Given the description of an element on the screen output the (x, y) to click on. 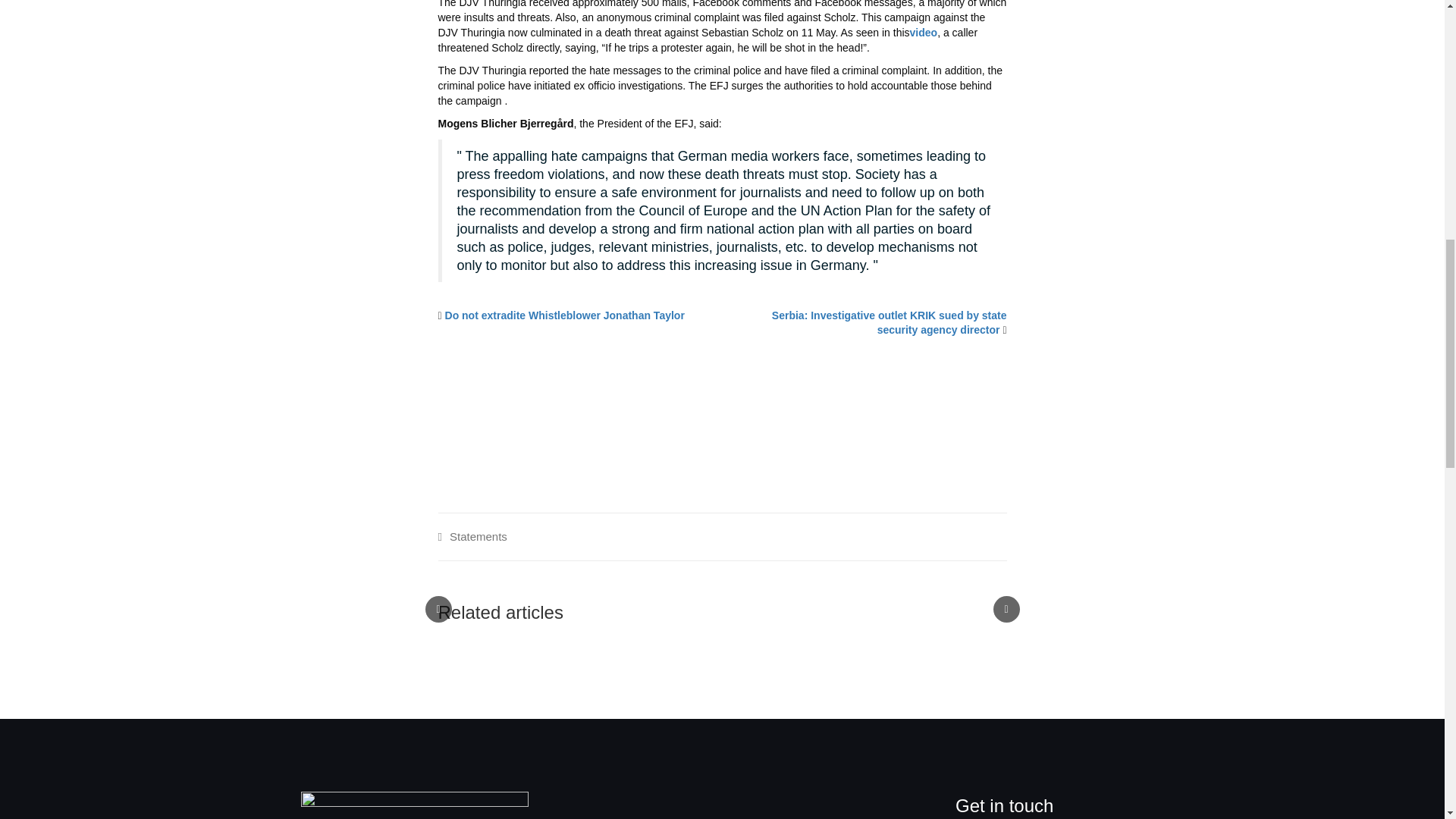
Do not extradite Whistleblower Jonathan Taylor (564, 315)
video (923, 32)
Statements (477, 535)
